Given the description of an element on the screen output the (x, y) to click on. 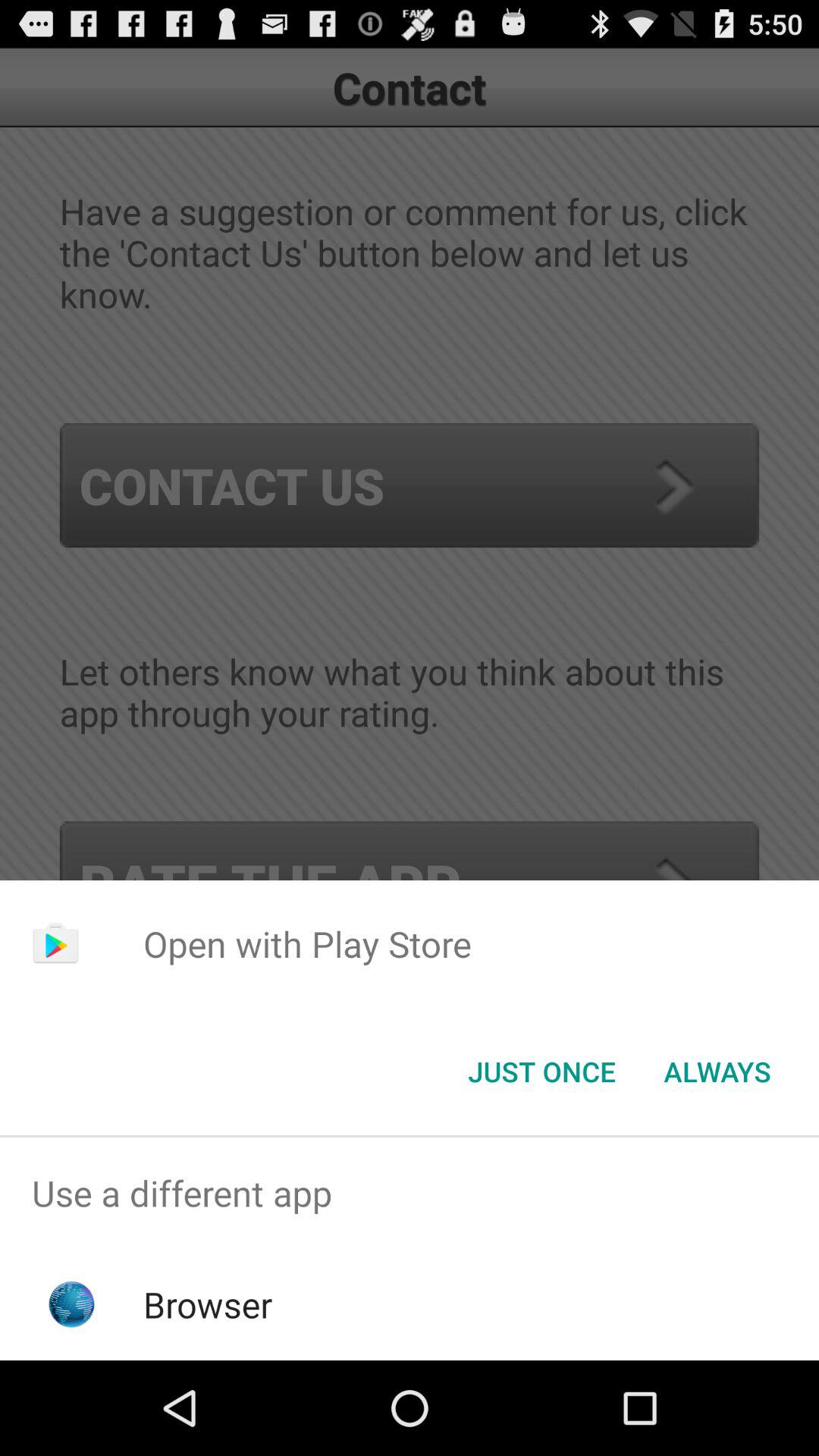
turn on always at the bottom right corner (717, 1071)
